Given the description of an element on the screen output the (x, y) to click on. 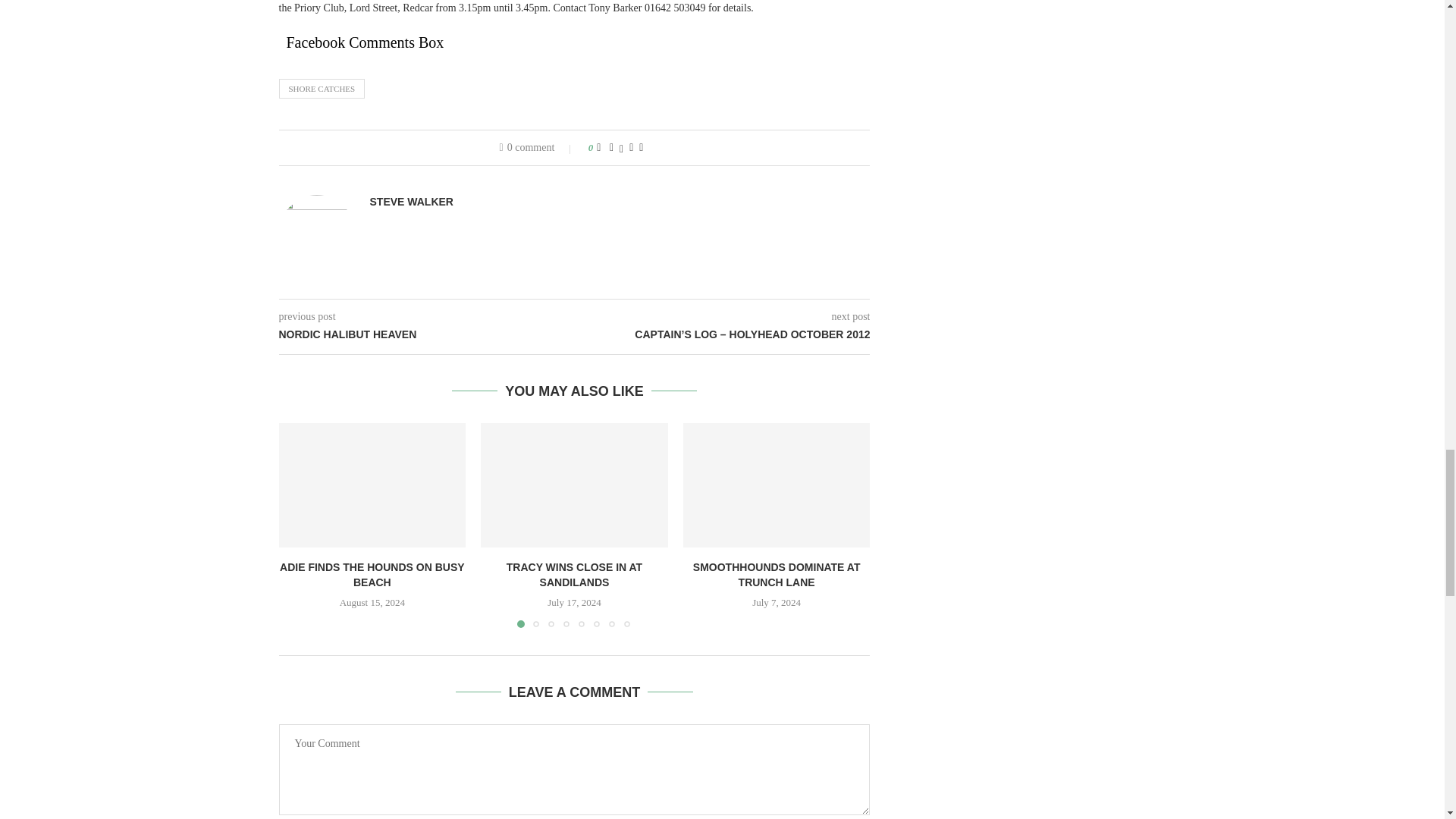
Smoothhounds Dominate At Trunch Lane (776, 485)
Adie Finds The Hounds On Busy Beach (372, 485)
Author Steve Walker (410, 201)
SHORE CATCHES (322, 88)
Tracy Wins Close In At Sandilands (574, 485)
